Given the description of an element on the screen output the (x, y) to click on. 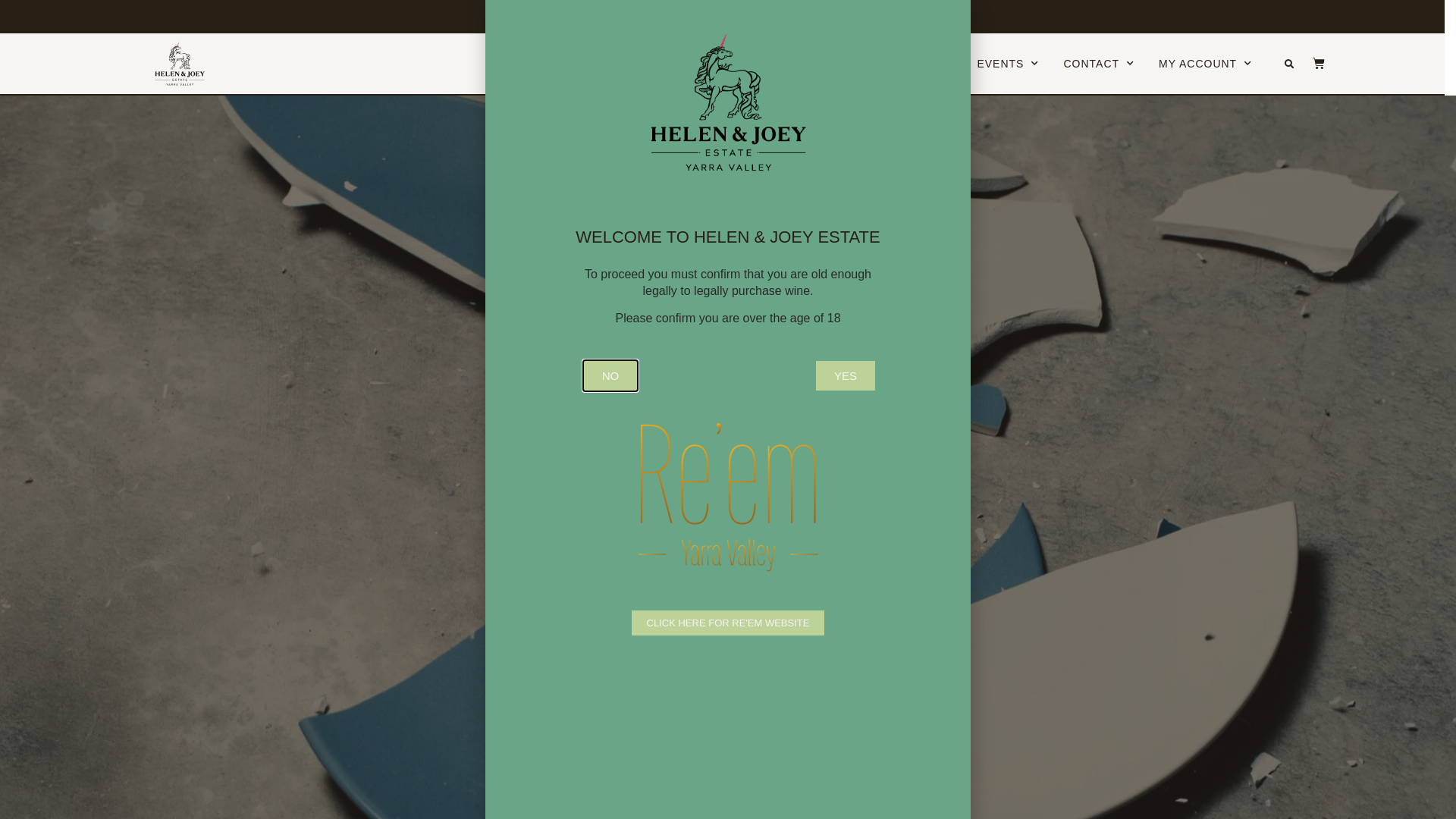
YES Element type: text (845, 375)
NO Element type: text (610, 375)
EVENTS Element type: text (1007, 63)
ABOUT Element type: text (750, 63)
CLICK HERE FOR RE'EM WEBSITE Element type: text (728, 622)
HOME Element type: text (680, 63)
BOOKINGS Element type: text (841, 63)
MY ACCOUNT Element type: text (1205, 63)
CONTACT Element type: text (1098, 63)
SHOP Element type: text (928, 63)
